Given the description of an element on the screen output the (x, y) to click on. 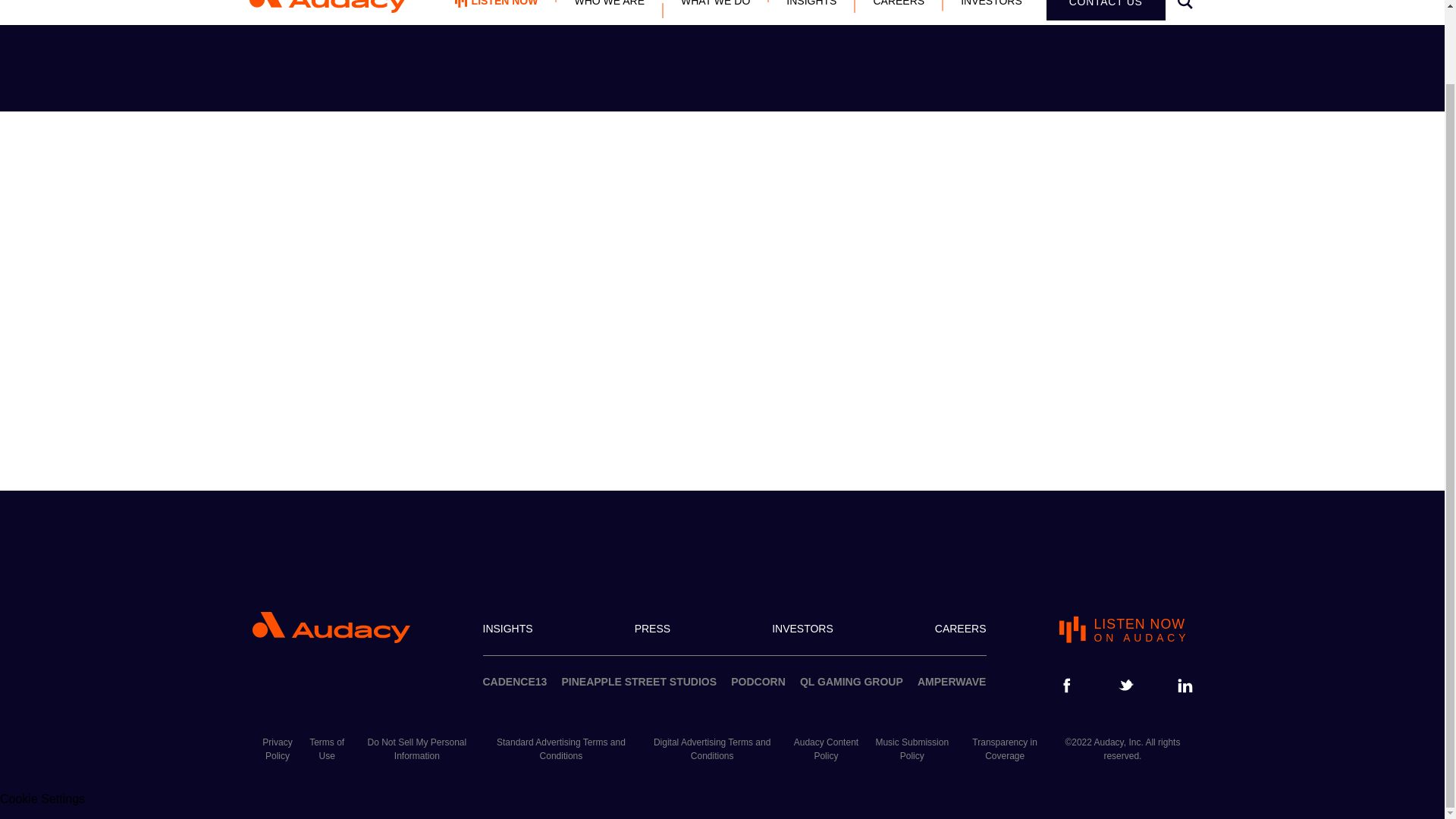
INSIGHTS (506, 628)
LISTEN NOW (496, 12)
CAREERS (960, 628)
PINEAPPLE STREET STUDIOS (638, 682)
WHO WE ARE (609, 12)
CONTACT US (1125, 630)
CAREERS (1106, 10)
WHAT WE DO (898, 12)
CADENCE13 (715, 12)
INVESTORS (514, 682)
INSIGHTS (991, 12)
INVESTORS (811, 12)
PODCORN (801, 628)
PRESS (758, 682)
